Given the description of an element on the screen output the (x, y) to click on. 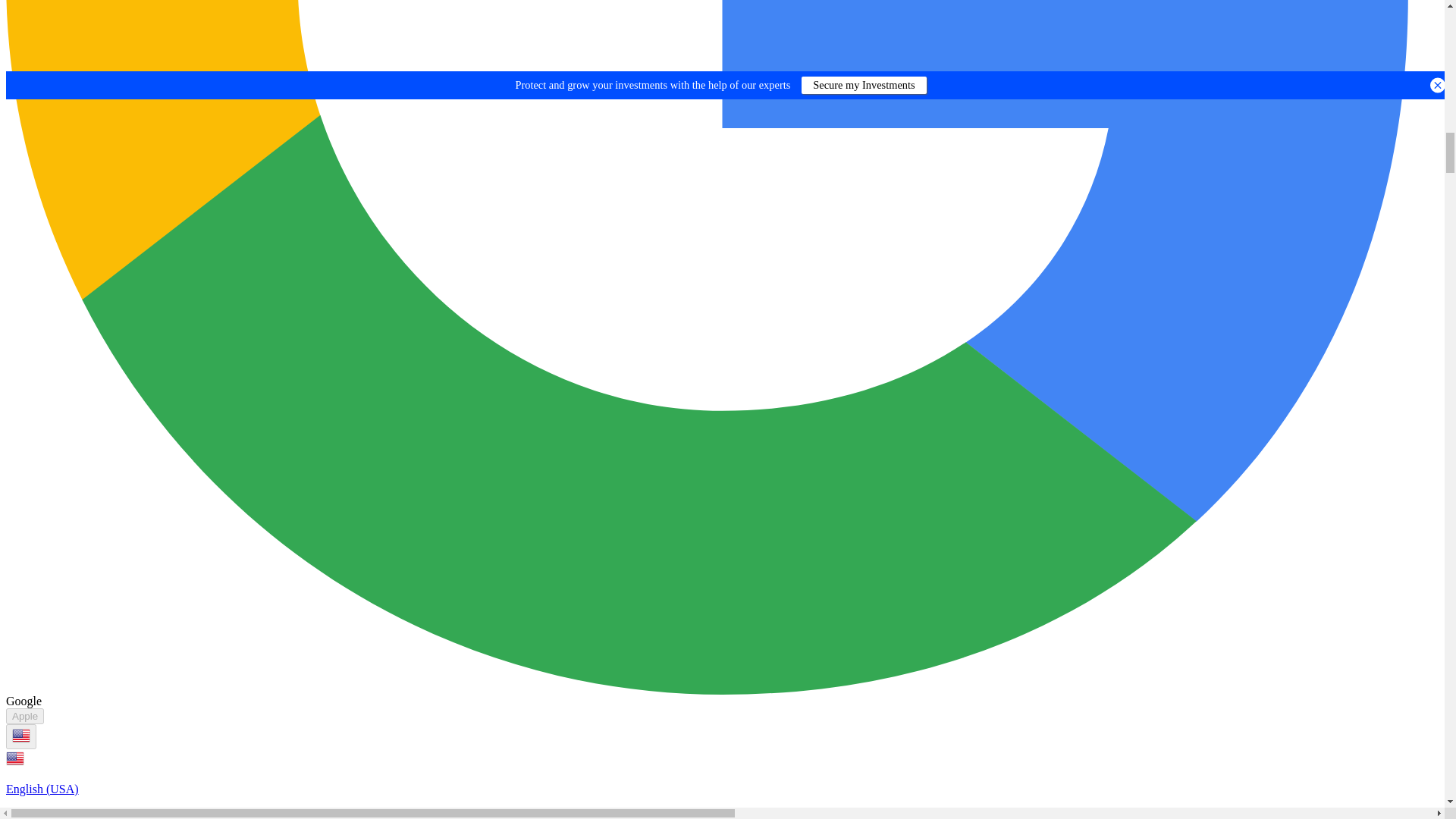
Apple (24, 715)
